Given the description of an element on the screen output the (x, y) to click on. 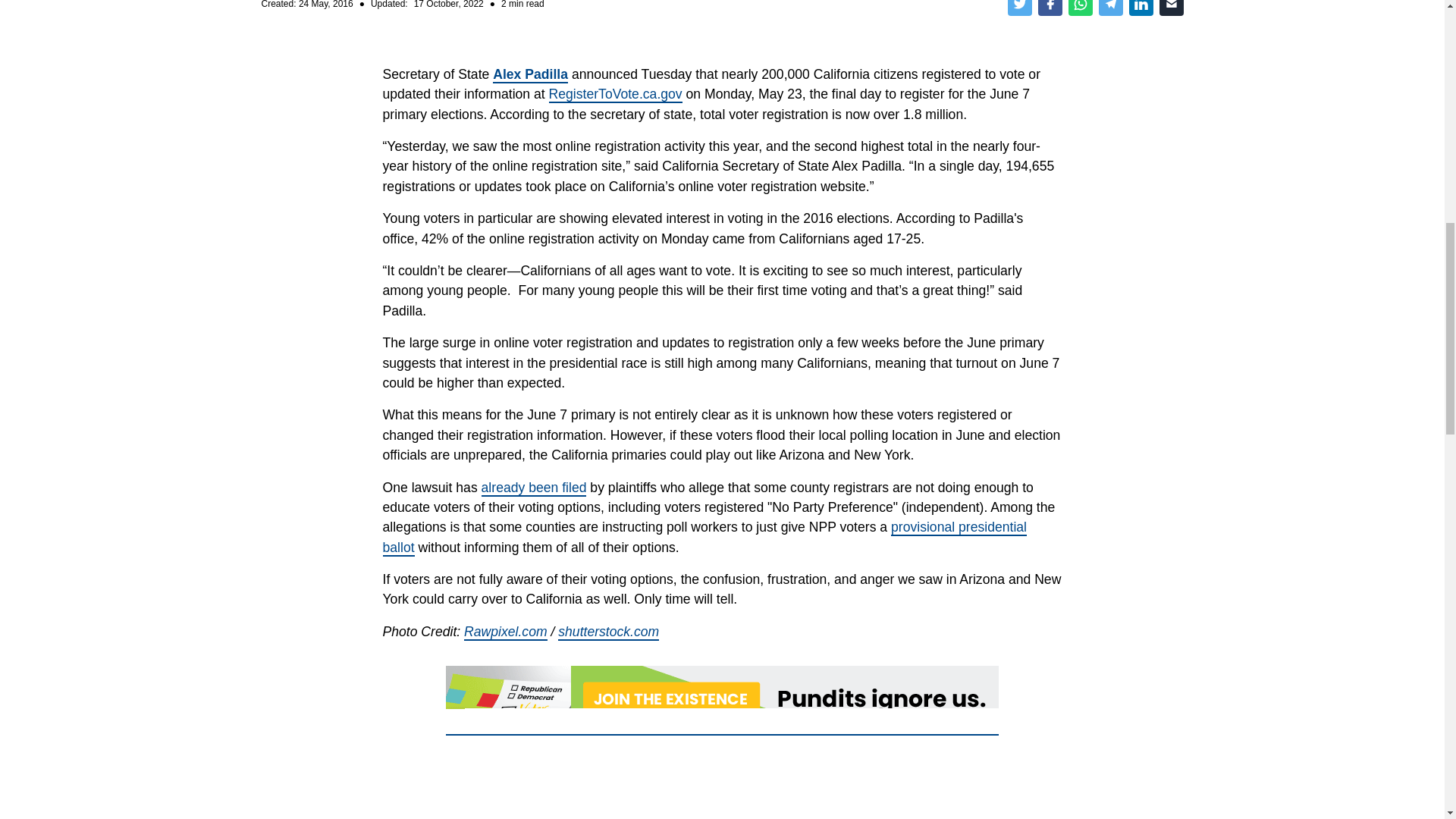
Alex Padilla (530, 74)
RegisterToVote.ca.gov (615, 94)
shutterstock.com (608, 632)
already been filed (533, 487)
provisional presidential ballot (703, 537)
Rawpixel.com (505, 632)
